Given the description of an element on the screen output the (x, y) to click on. 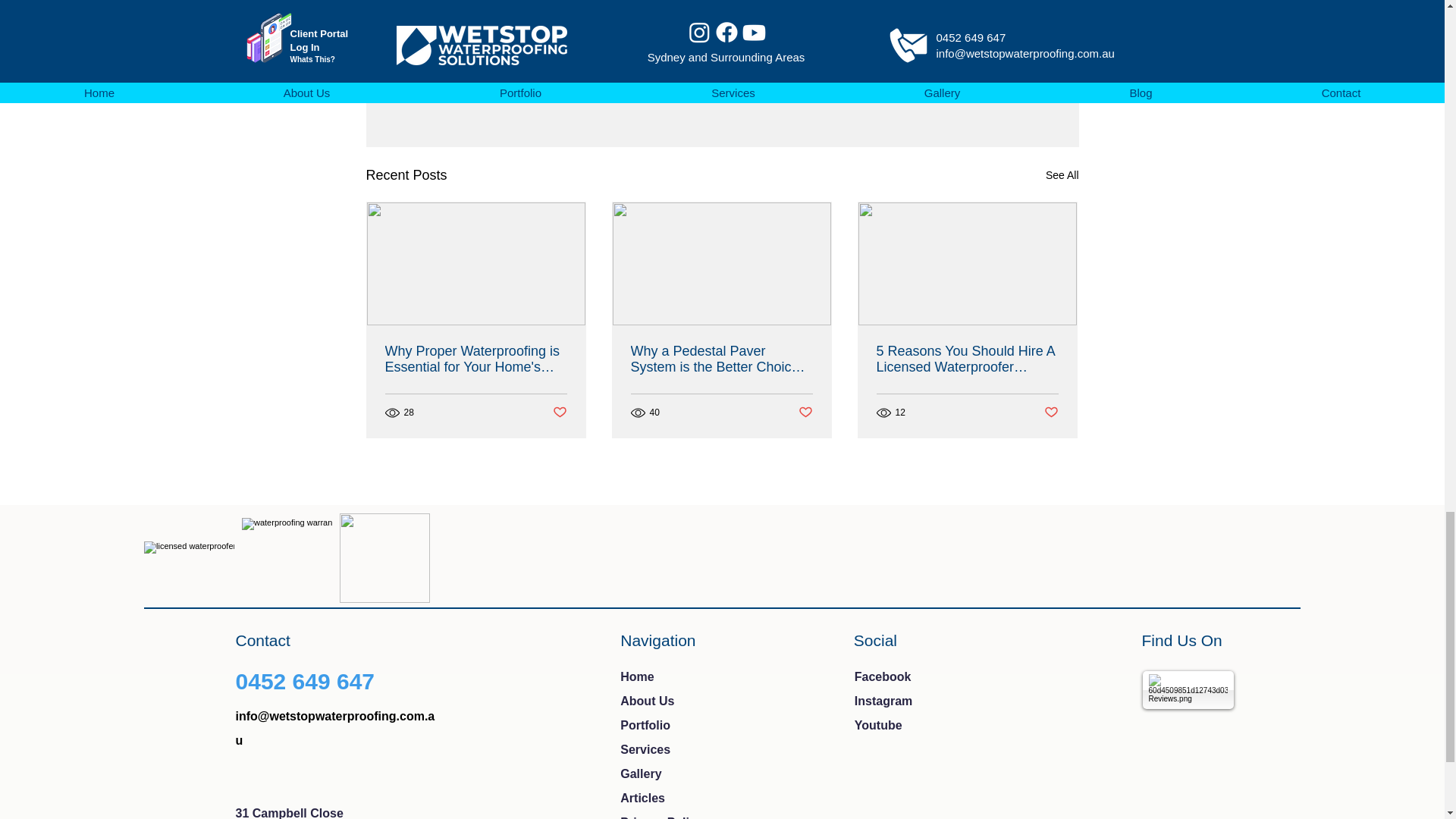
47 (361, 681)
Post not marked as liked (804, 412)
Post not marked as liked (995, 92)
31 Campbell Close (289, 812)
0452 649 6 (292, 681)
Home (636, 676)
See All (1061, 175)
Post not marked as liked (1050, 412)
